Given the description of an element on the screen output the (x, y) to click on. 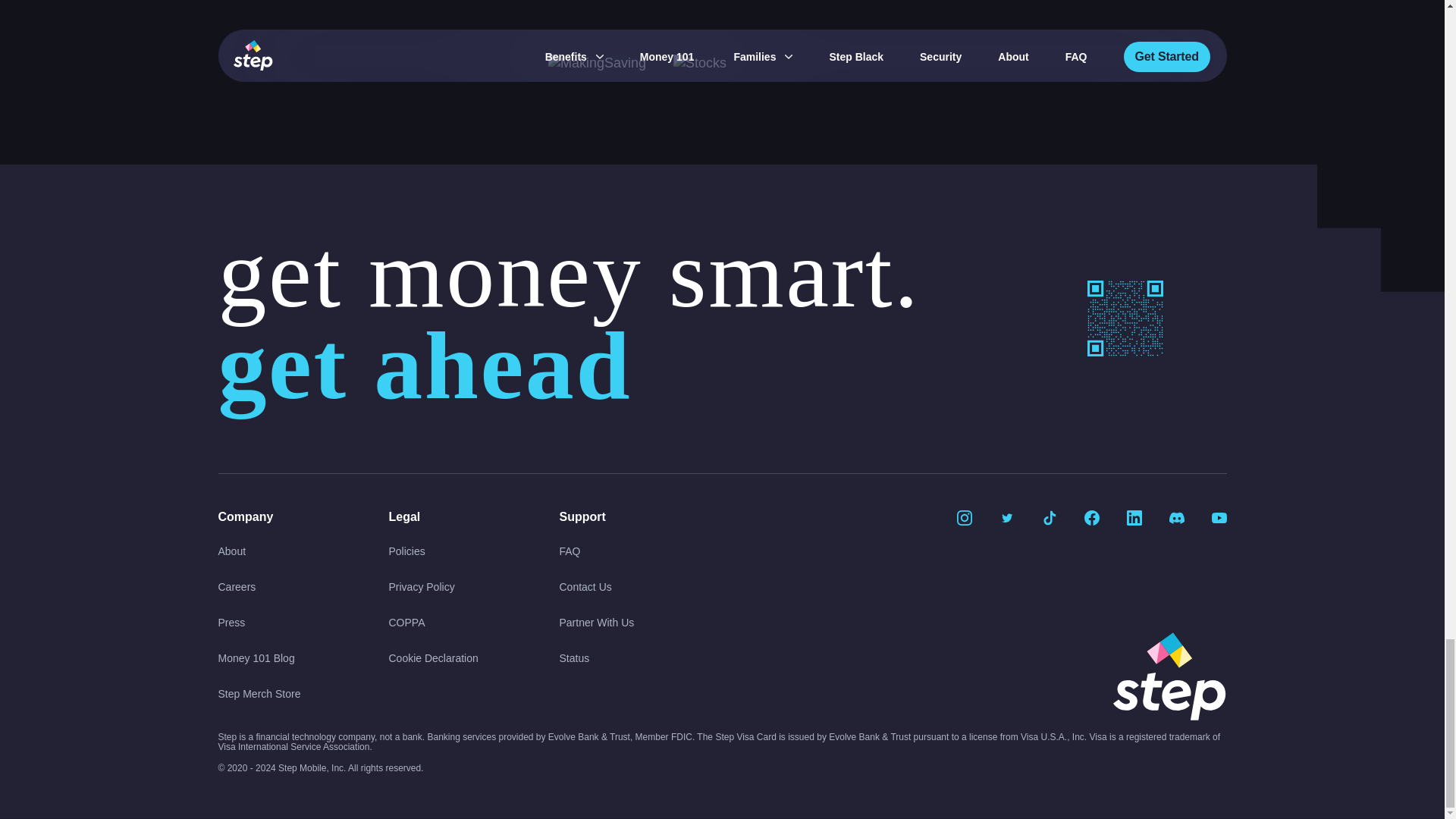
Twitter (1006, 517)
Instagram (964, 517)
LinkedIn (1133, 517)
TikTok (1049, 517)
Discord (1177, 517)
YouTube (1219, 517)
Facebook (1091, 517)
